Given the description of an element on the screen output the (x, y) to click on. 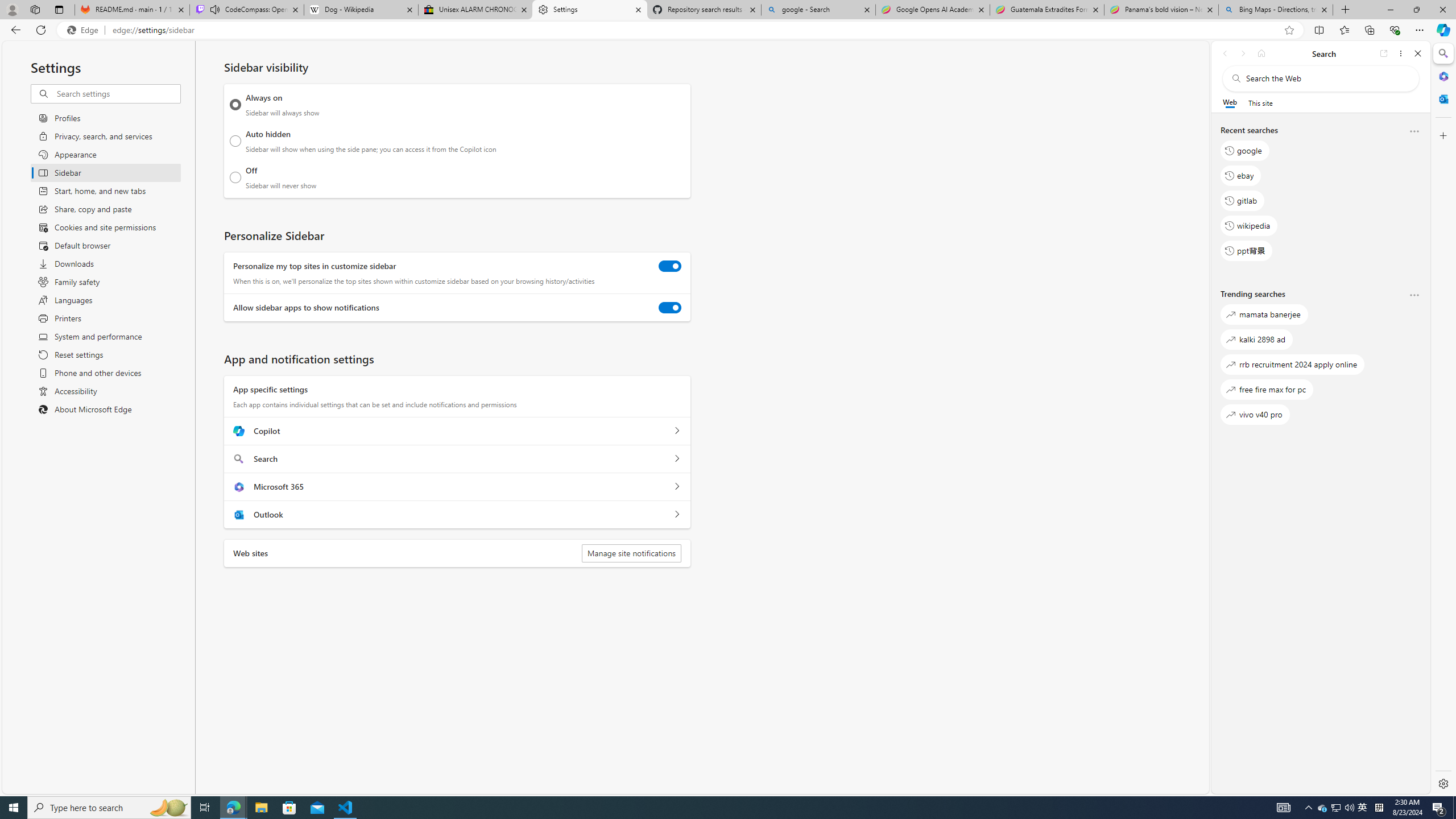
Mute tab (215, 8)
wikipedia (1249, 225)
rrb recruitment 2024 apply online (1292, 364)
google (1244, 150)
